Given the description of an element on the screen output the (x, y) to click on. 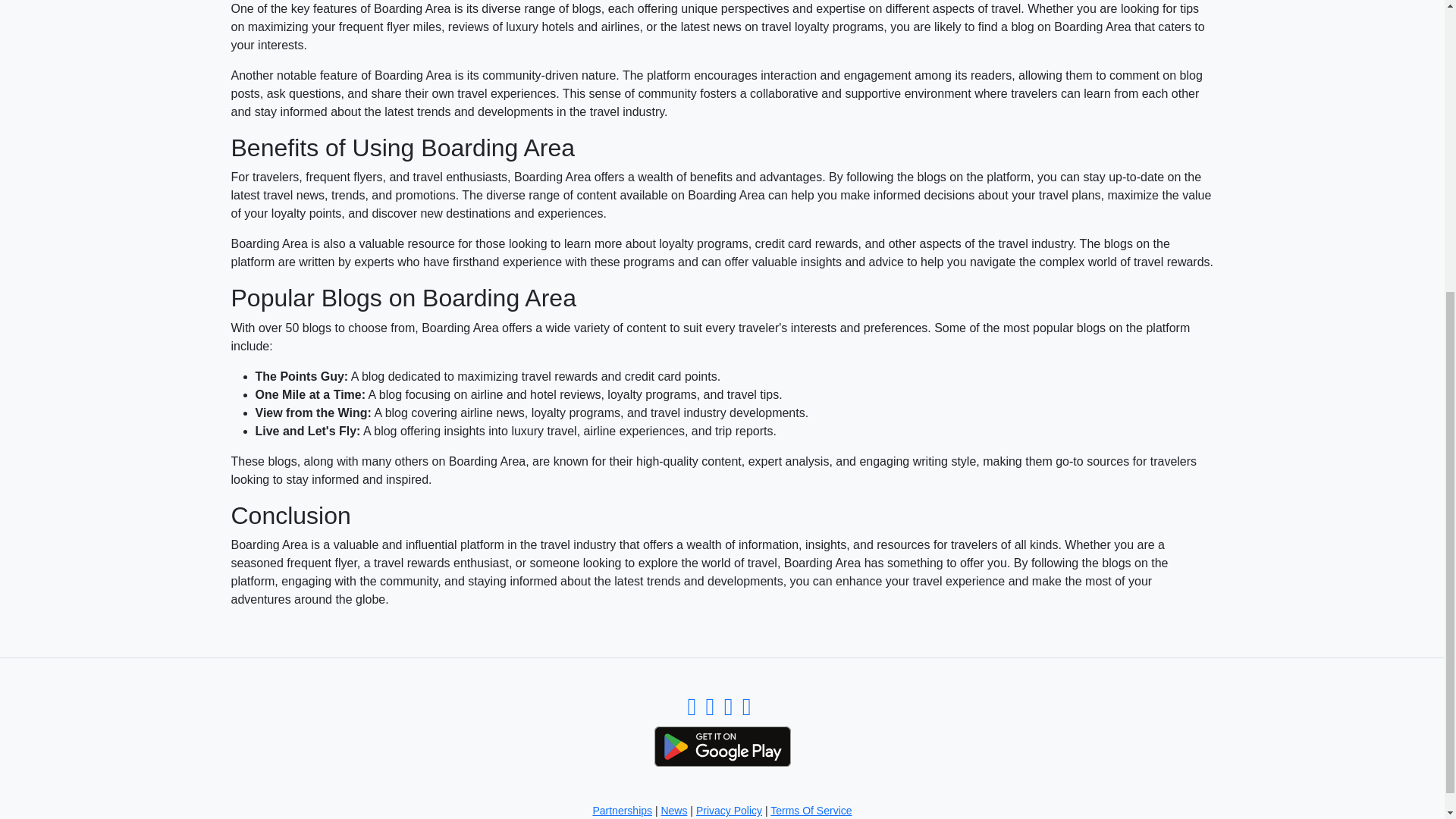
News (674, 810)
Partnerships (622, 810)
Privacy Policy (728, 810)
Terms Of Service (810, 810)
